Given the description of an element on the screen output the (x, y) to click on. 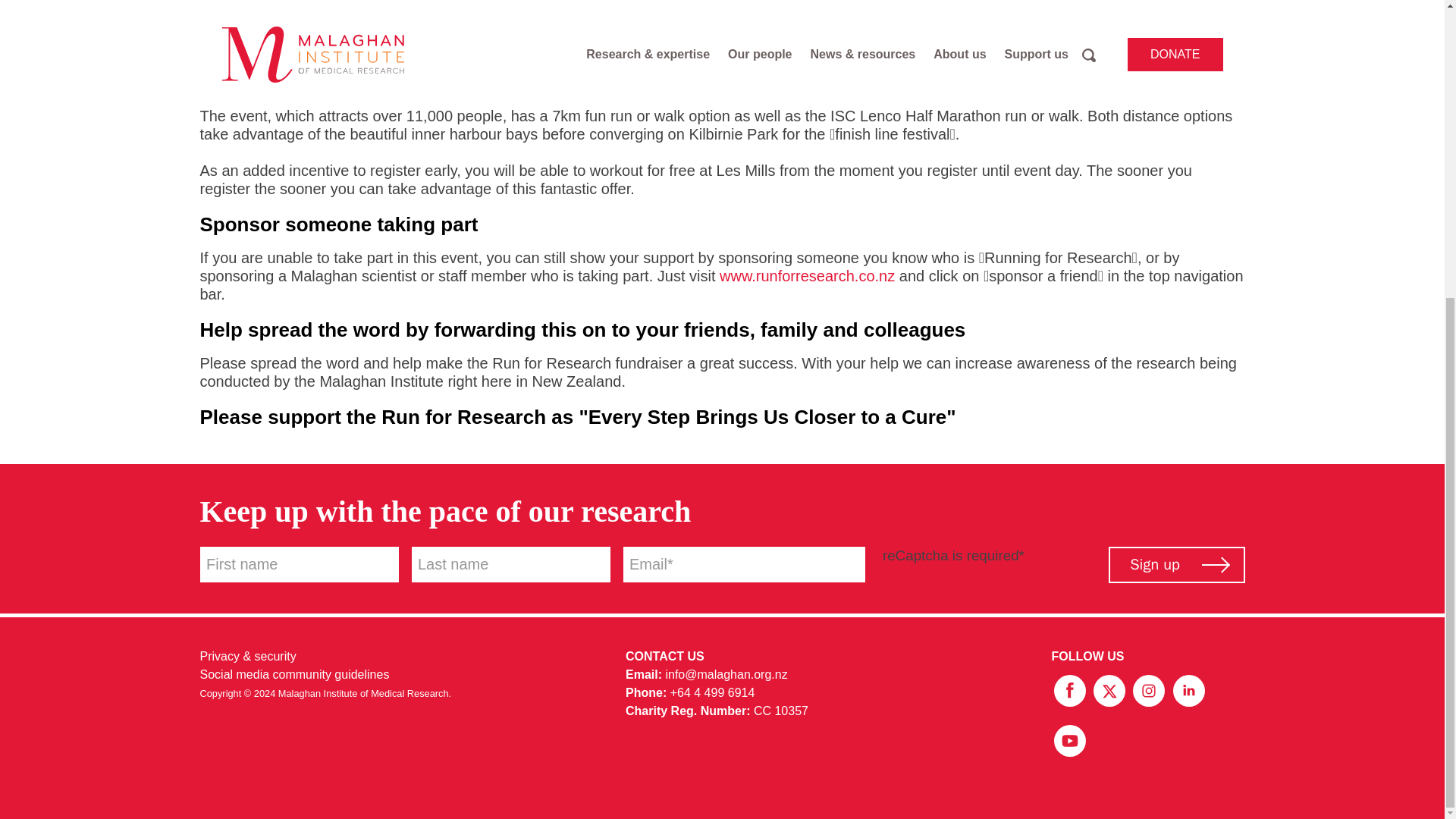
Facebook (1070, 689)
Instagram (1150, 689)
LinkedIn (1188, 689)
X (1110, 689)
YouTube (1069, 739)
